Given the description of an element on the screen output the (x, y) to click on. 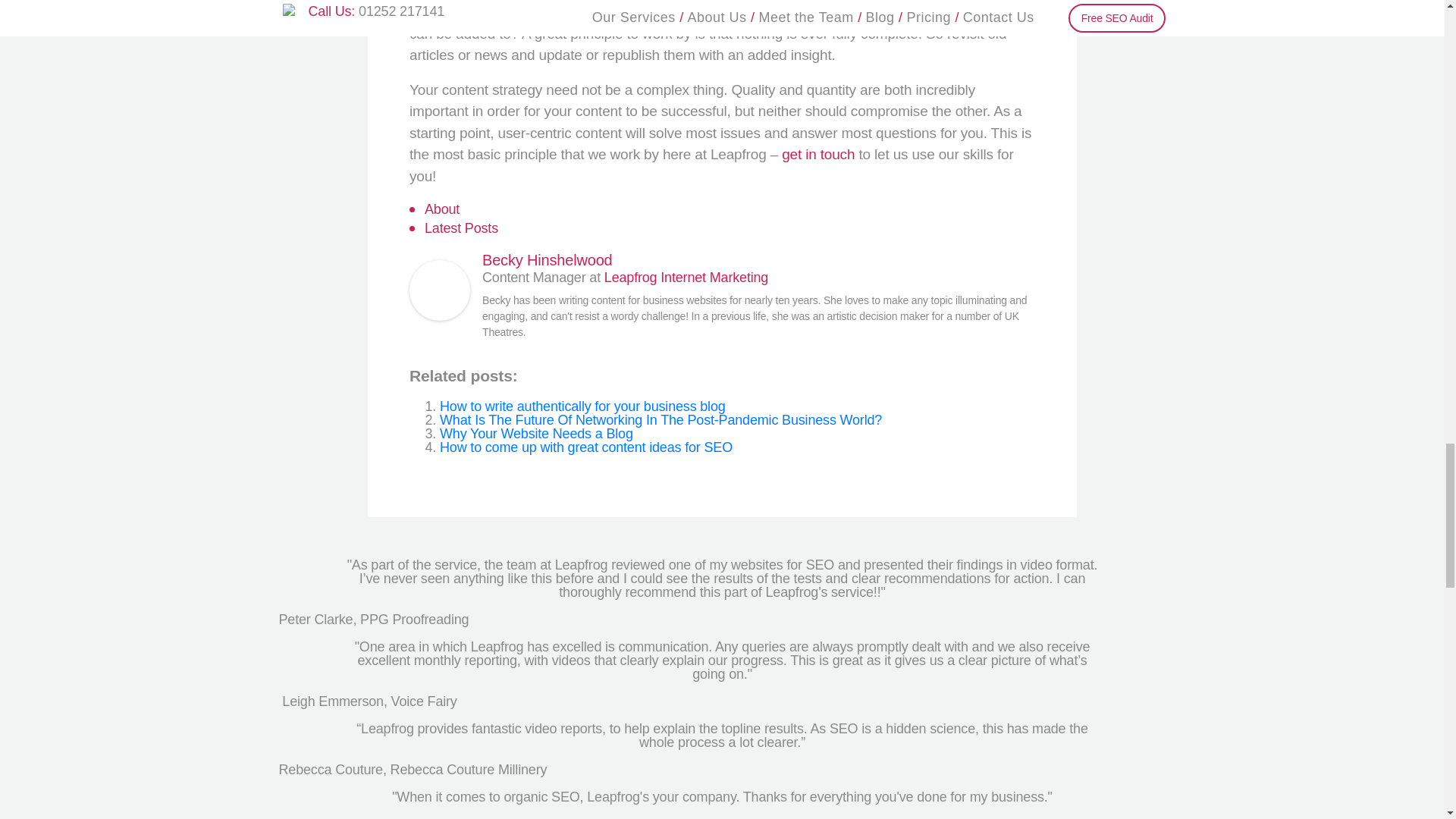
get in touch (817, 155)
Why Your Website Needs a Blog (536, 433)
How to write authentically for your business blog (582, 406)
How to write authentically for your business blog (582, 406)
Becky Hinshelwood (546, 259)
Latest Posts (461, 228)
Becky Hinshelwood (439, 291)
Why Your Website Needs a Blog (536, 433)
How to come up with great content ideas for SEO (585, 447)
